Given the description of an element on the screen output the (x, y) to click on. 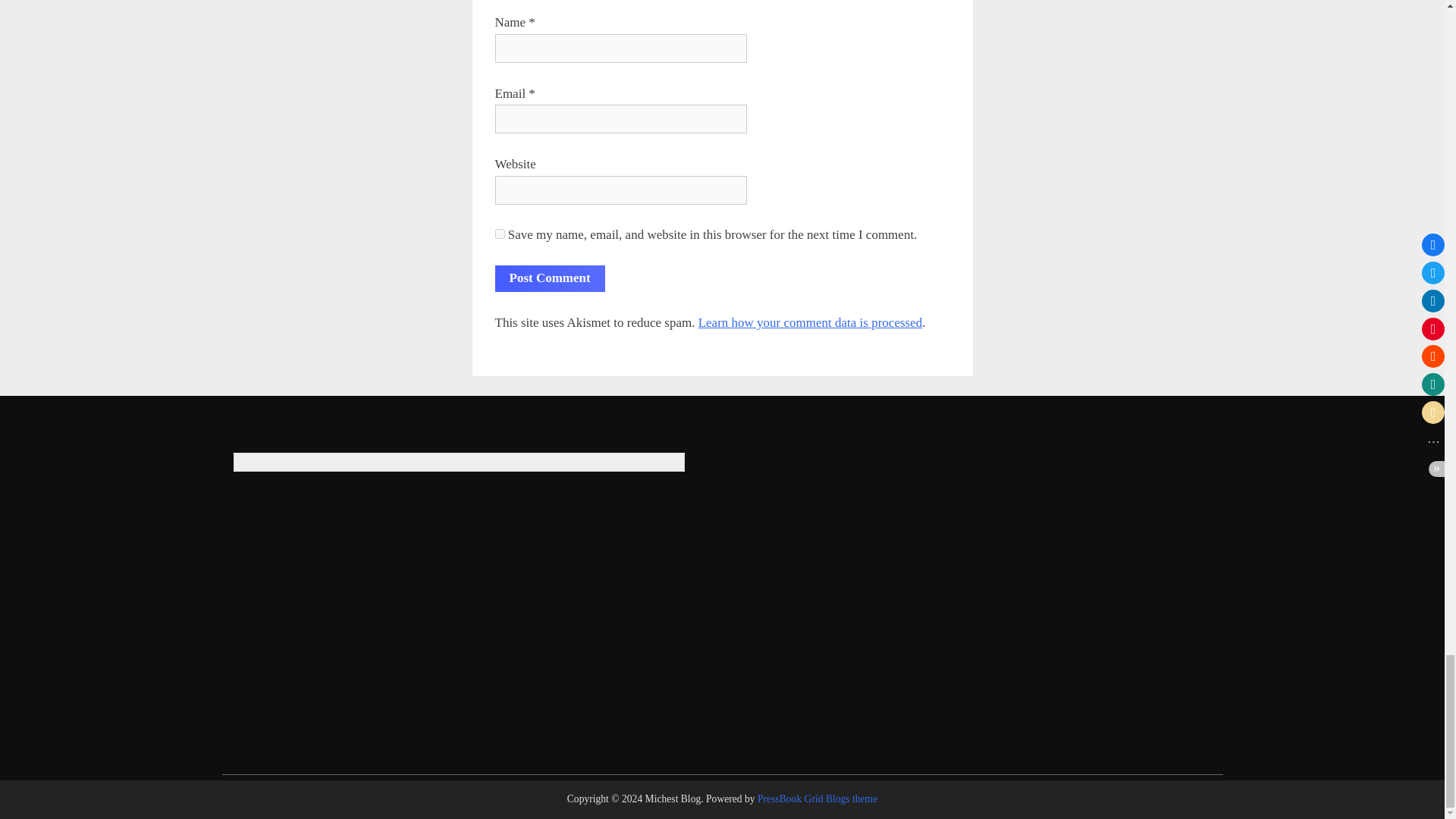
Post Comment (549, 278)
Learn how your comment data is processed (810, 322)
yes (499, 234)
Post Comment (549, 278)
PressBook Grid Blogs theme (817, 798)
